Given the description of an element on the screen output the (x, y) to click on. 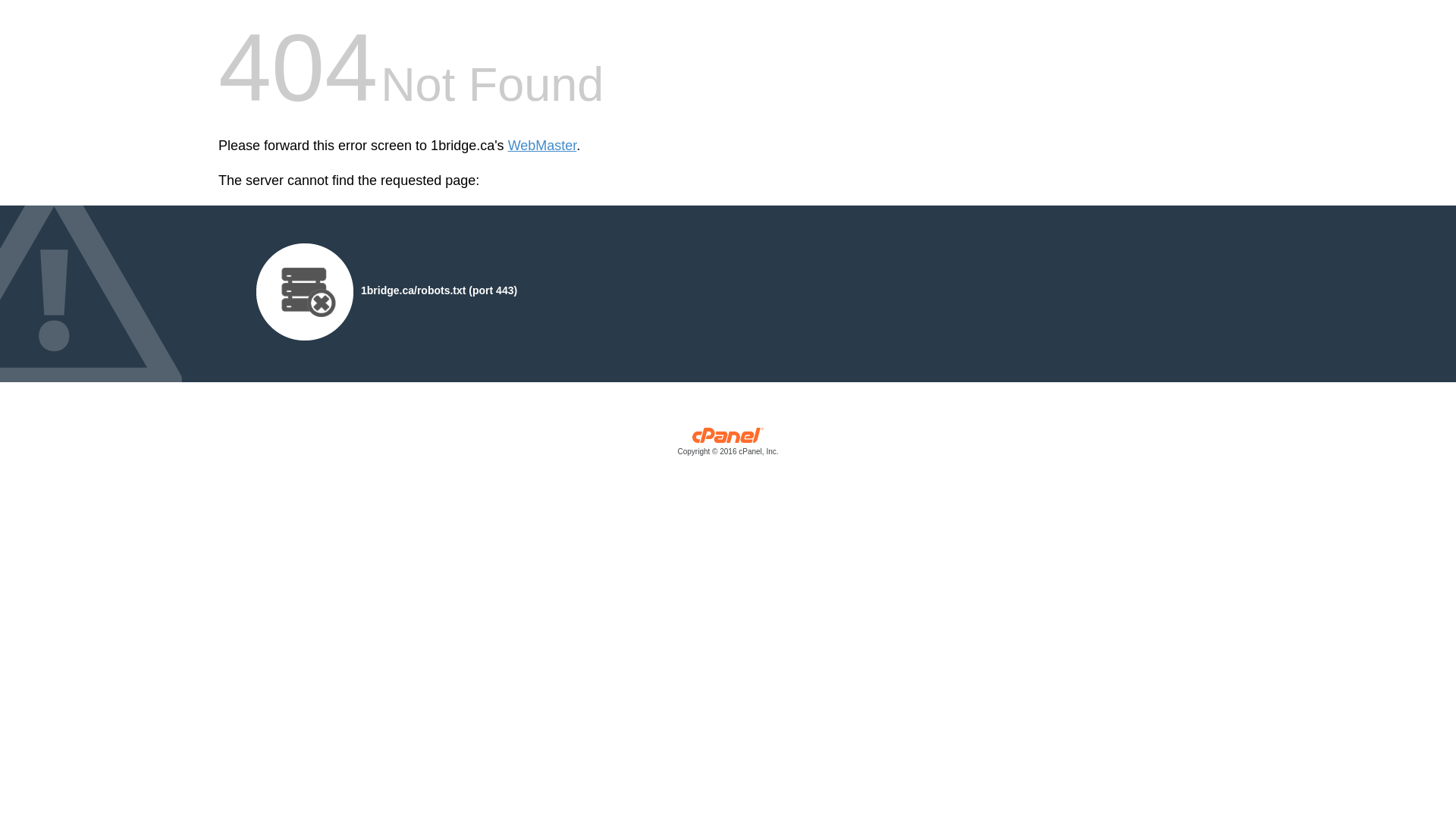
WebMaster Element type: text (542, 145)
